Given the description of an element on the screen output the (x, y) to click on. 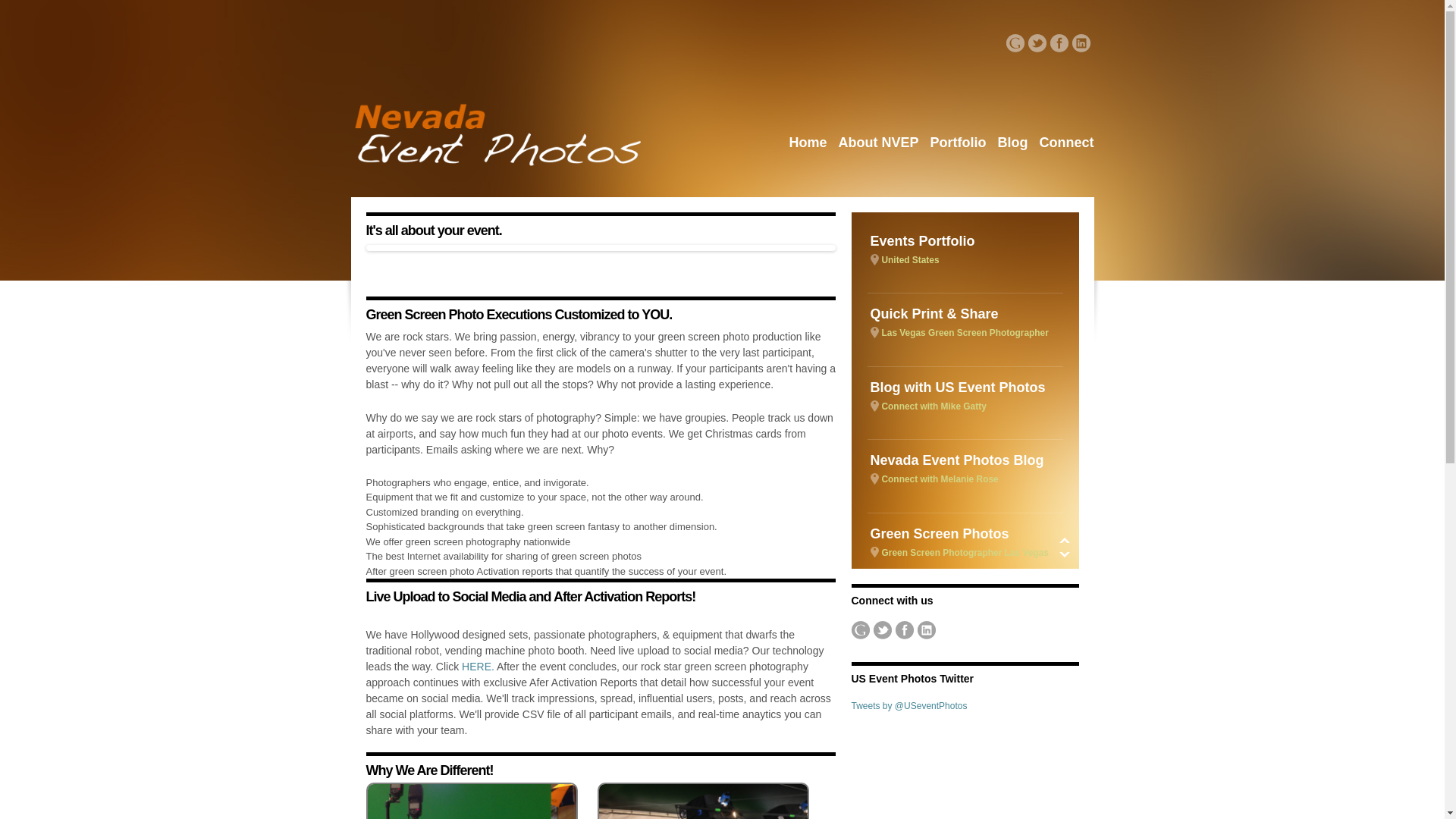
Follow us on twitter. (1036, 43)
About NVEP (878, 146)
Follow us on twitter. (882, 629)
Visit me on Linkedin. (926, 629)
Like us on Facebook. (903, 629)
Like us on Facebook. (964, 541)
Home (964, 395)
Visit me on Linkedin. (1058, 43)
Blog (808, 146)
Connect (1080, 43)
HERE. (1012, 146)
Like us on Facebook. (1066, 146)
